Given the description of an element on the screen output the (x, y) to click on. 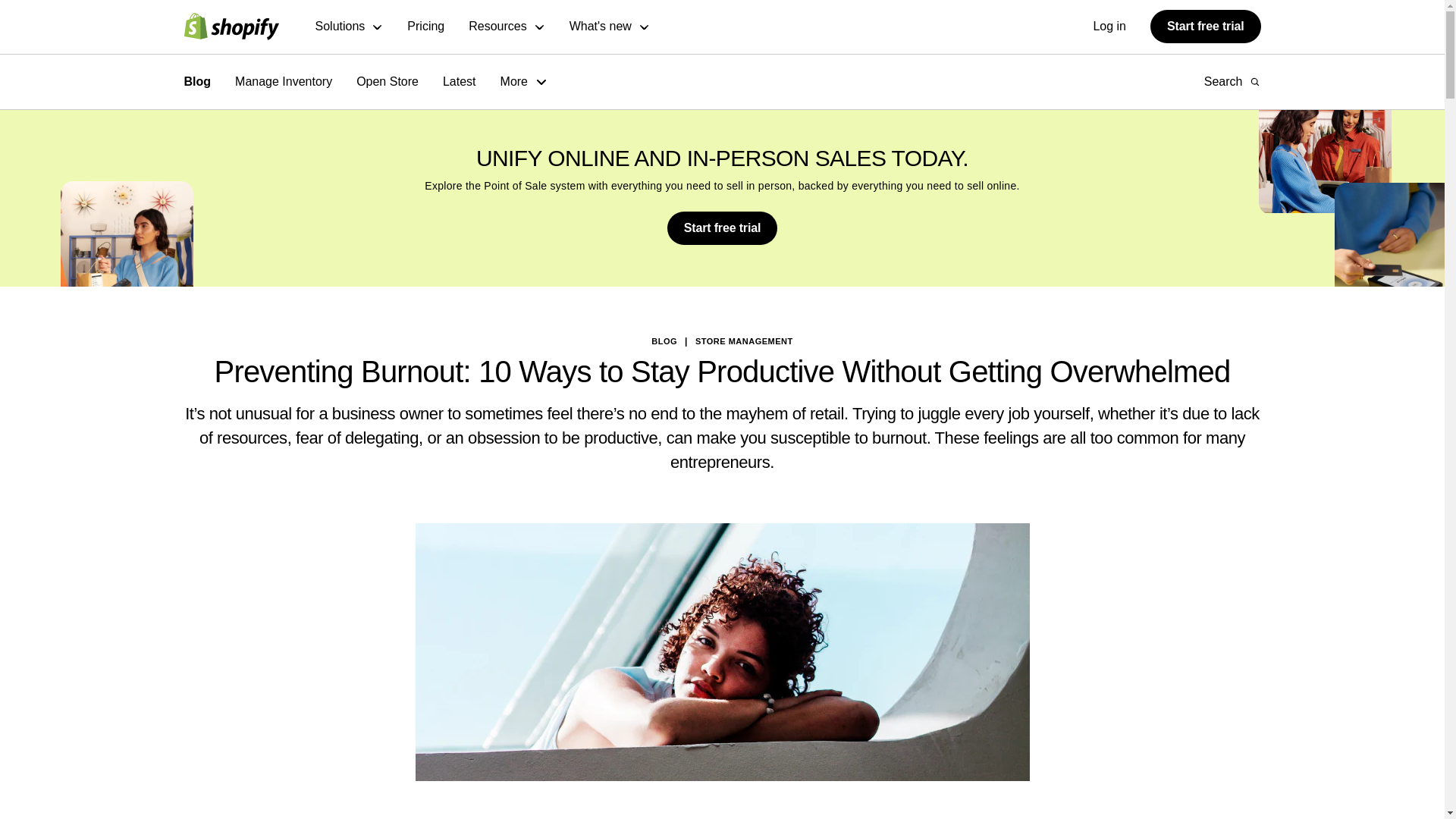
Solutions (349, 27)
Resources (506, 27)
